Given the description of an element on the screen output the (x, y) to click on. 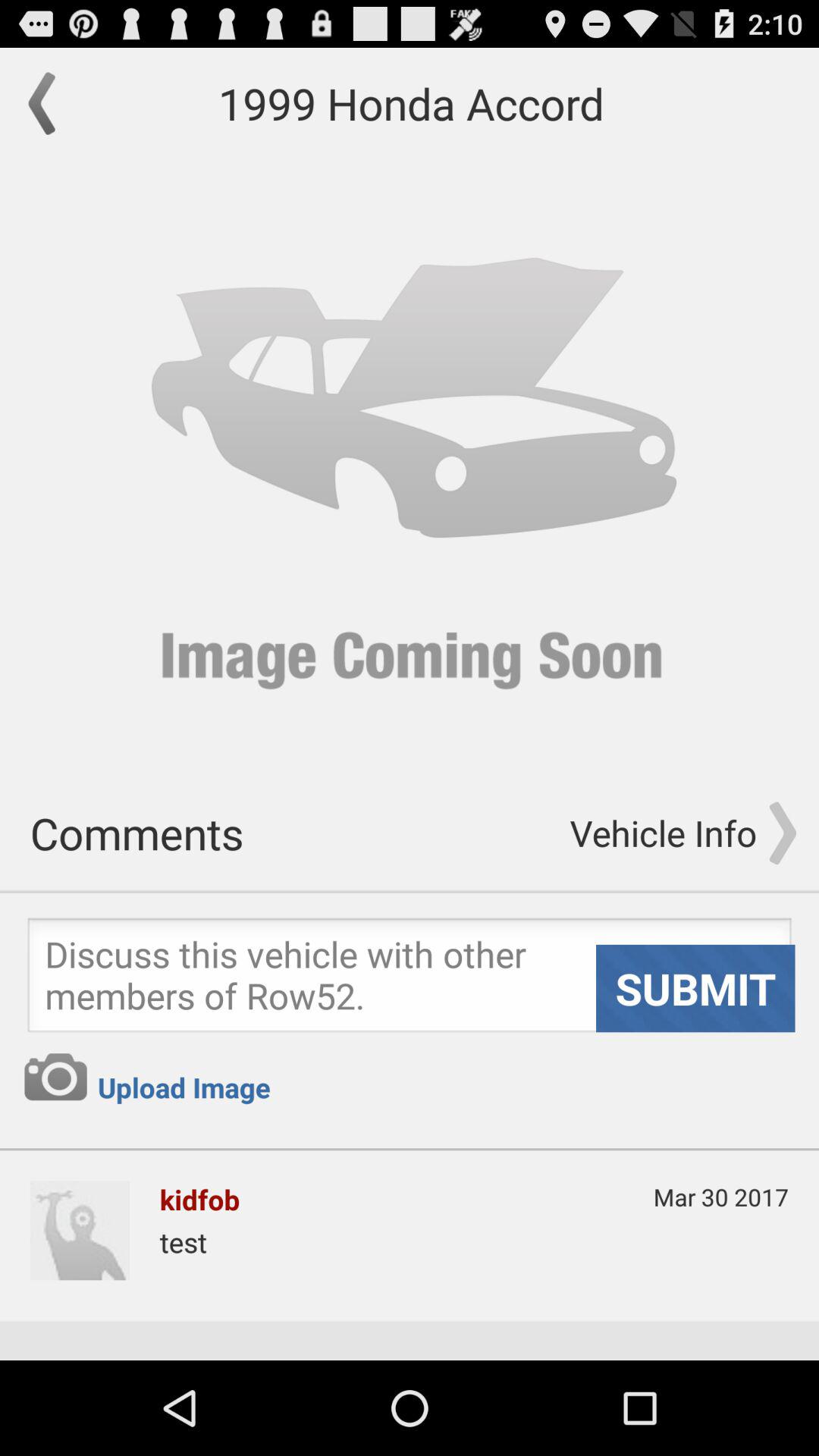
go do geamare (55, 1076)
